Given the description of an element on the screen output the (x, y) to click on. 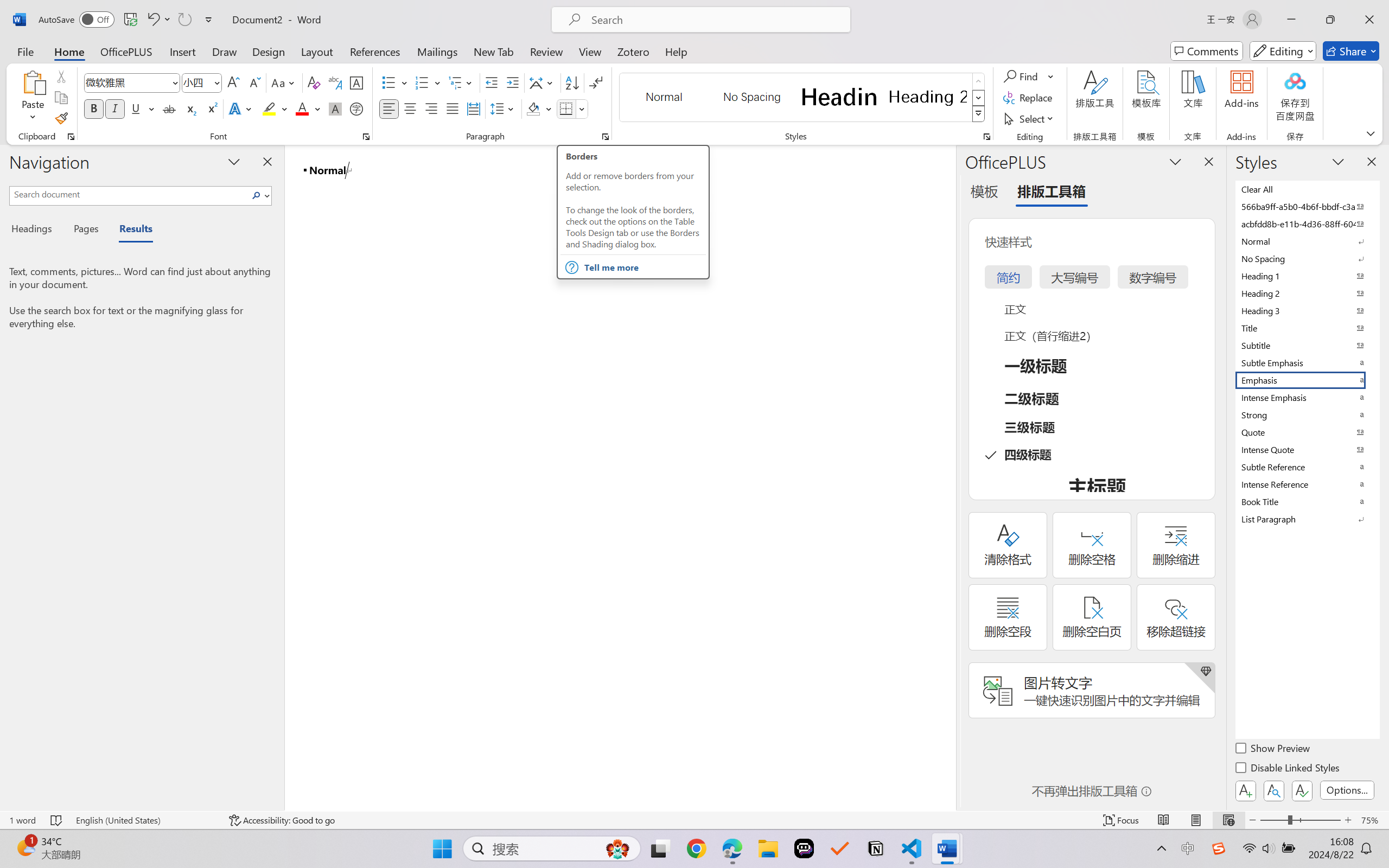
AutomationID: BadgeAnchorLargeTicker (24, 847)
Mailings (437, 51)
